Given the description of an element on the screen output the (x, y) to click on. 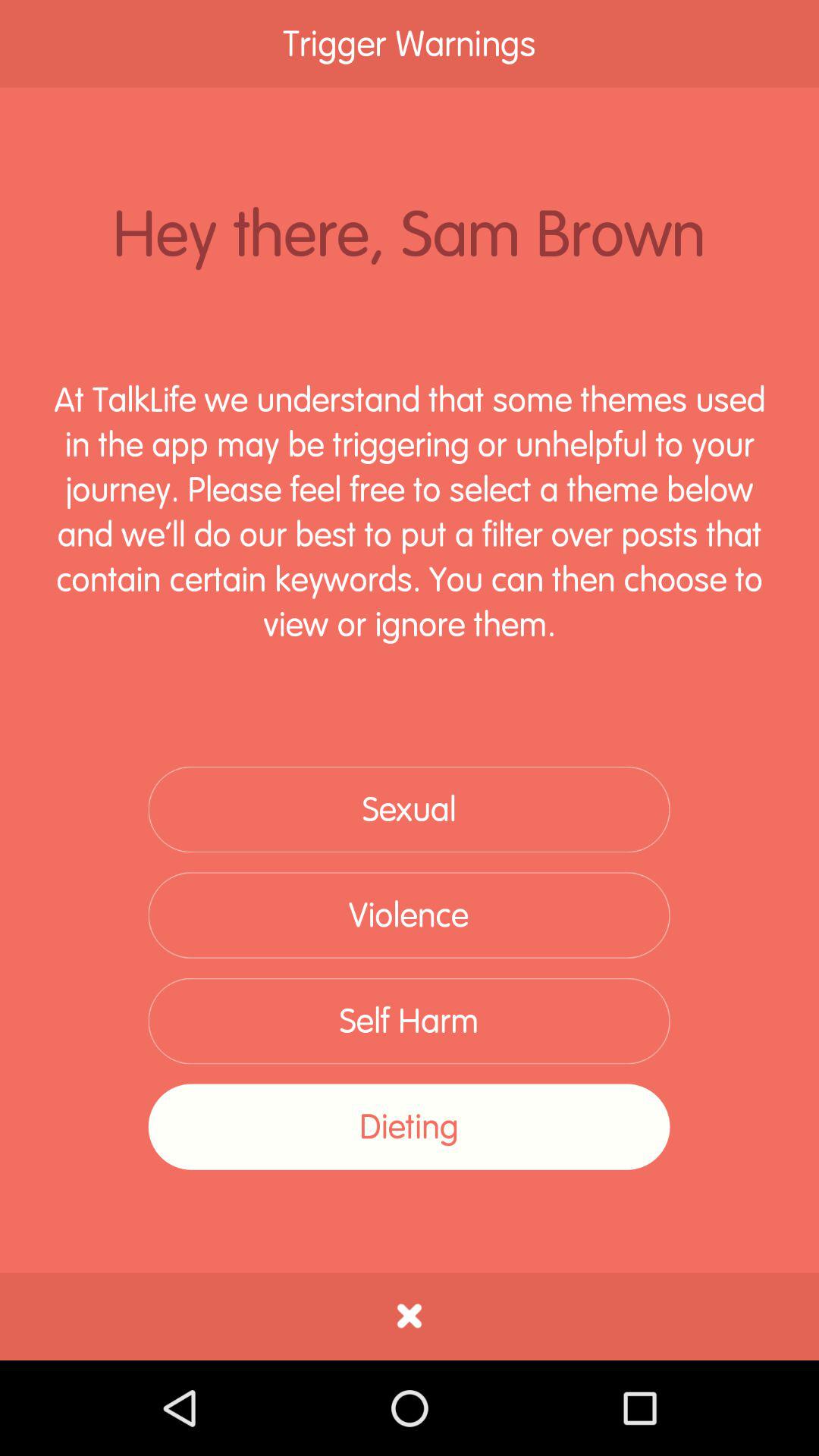
click the icon below the violence item (408, 1021)
